Given the description of an element on the screen output the (x, y) to click on. 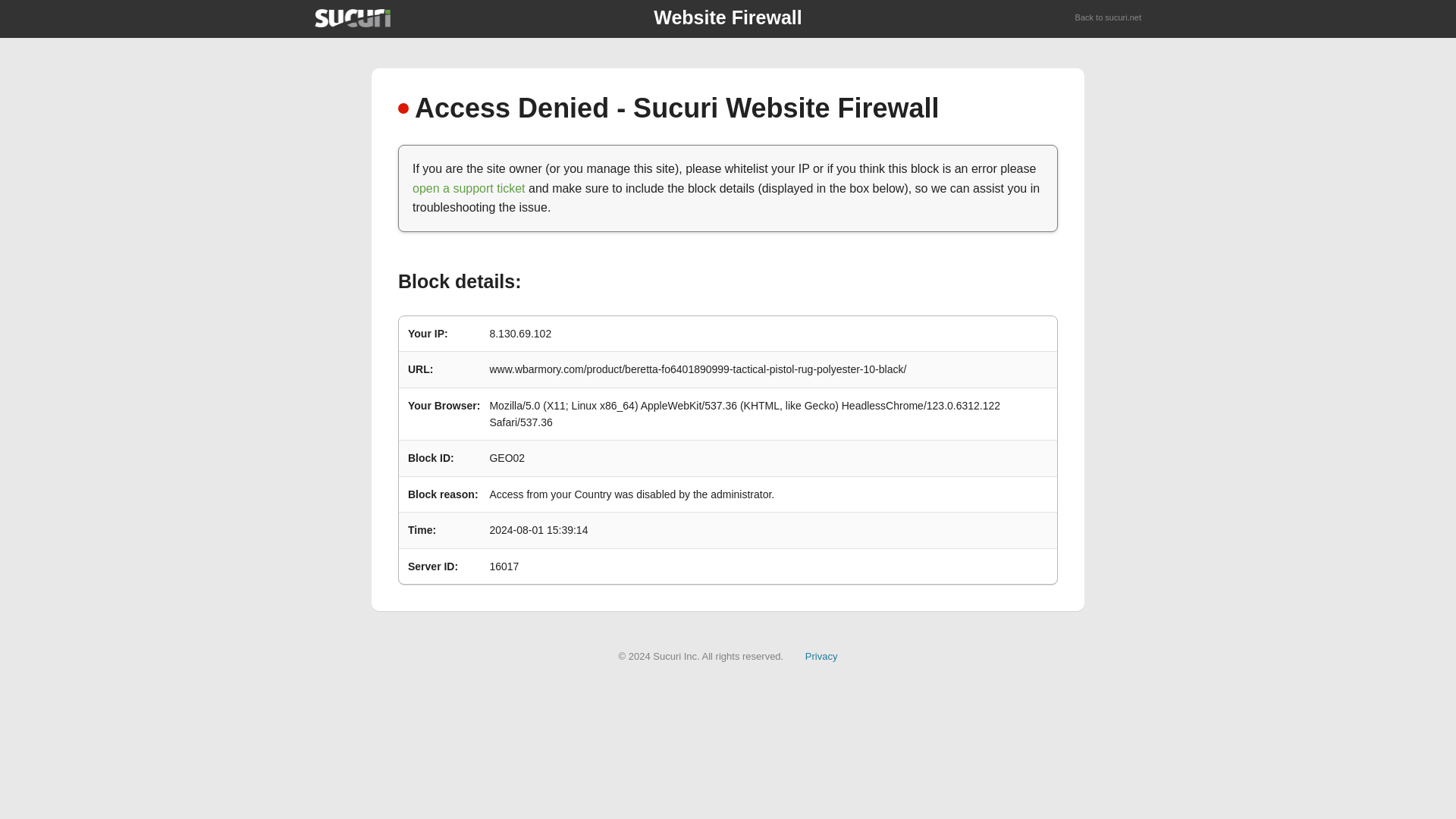
open a support ticket (468, 187)
Back to sucuri.net (1108, 18)
Privacy (821, 655)
